Given the description of an element on the screen output the (x, y) to click on. 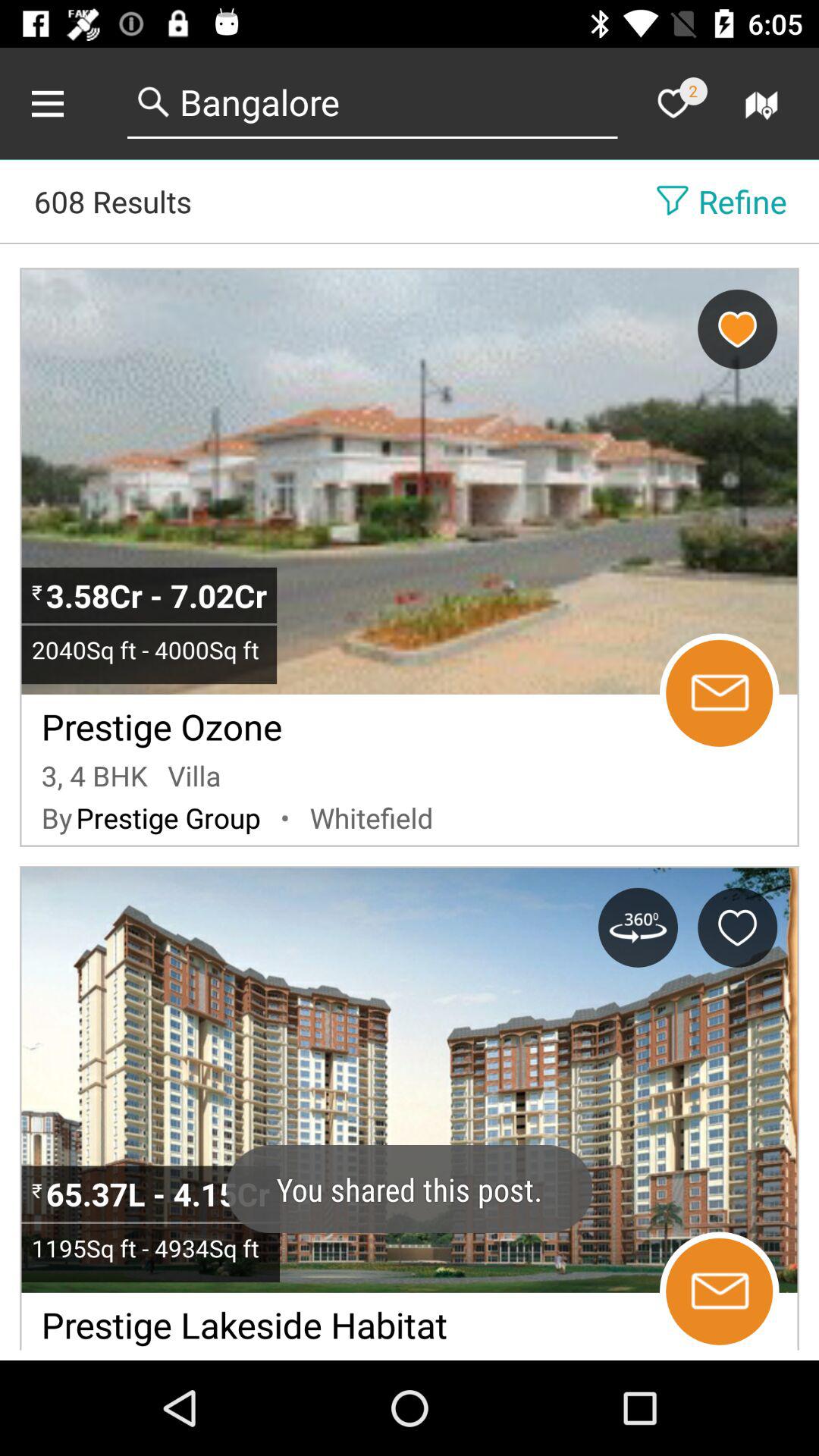
360 view (637, 927)
